Given the description of an element on the screen output the (x, y) to click on. 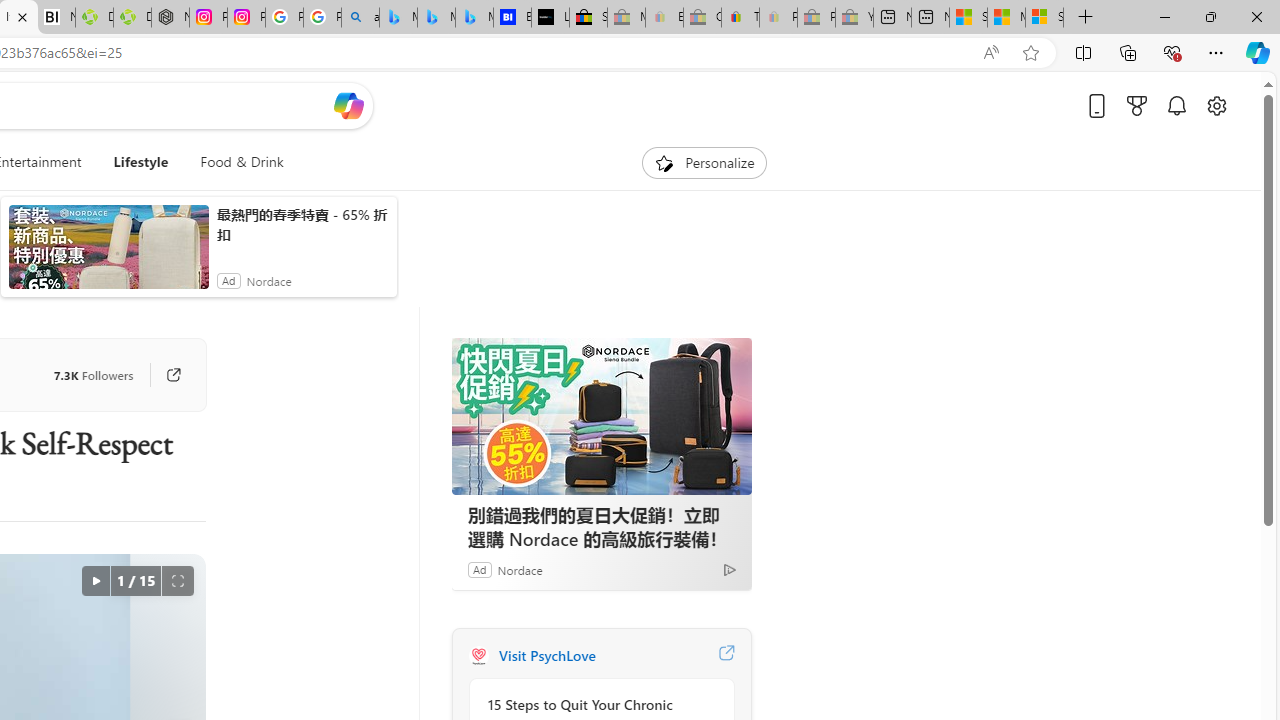
autorotate button (95, 580)
Selling on eBay | Electronics, Fashion, Home & Garden | eBay (587, 17)
To get missing image descriptions, open the context menu. (664, 162)
Food & Drink (234, 162)
Yard, Garden & Outdoor Living - Sleeping (853, 17)
Press Room - eBay Inc. - Sleeping (815, 17)
